Given the description of an element on the screen output the (x, y) to click on. 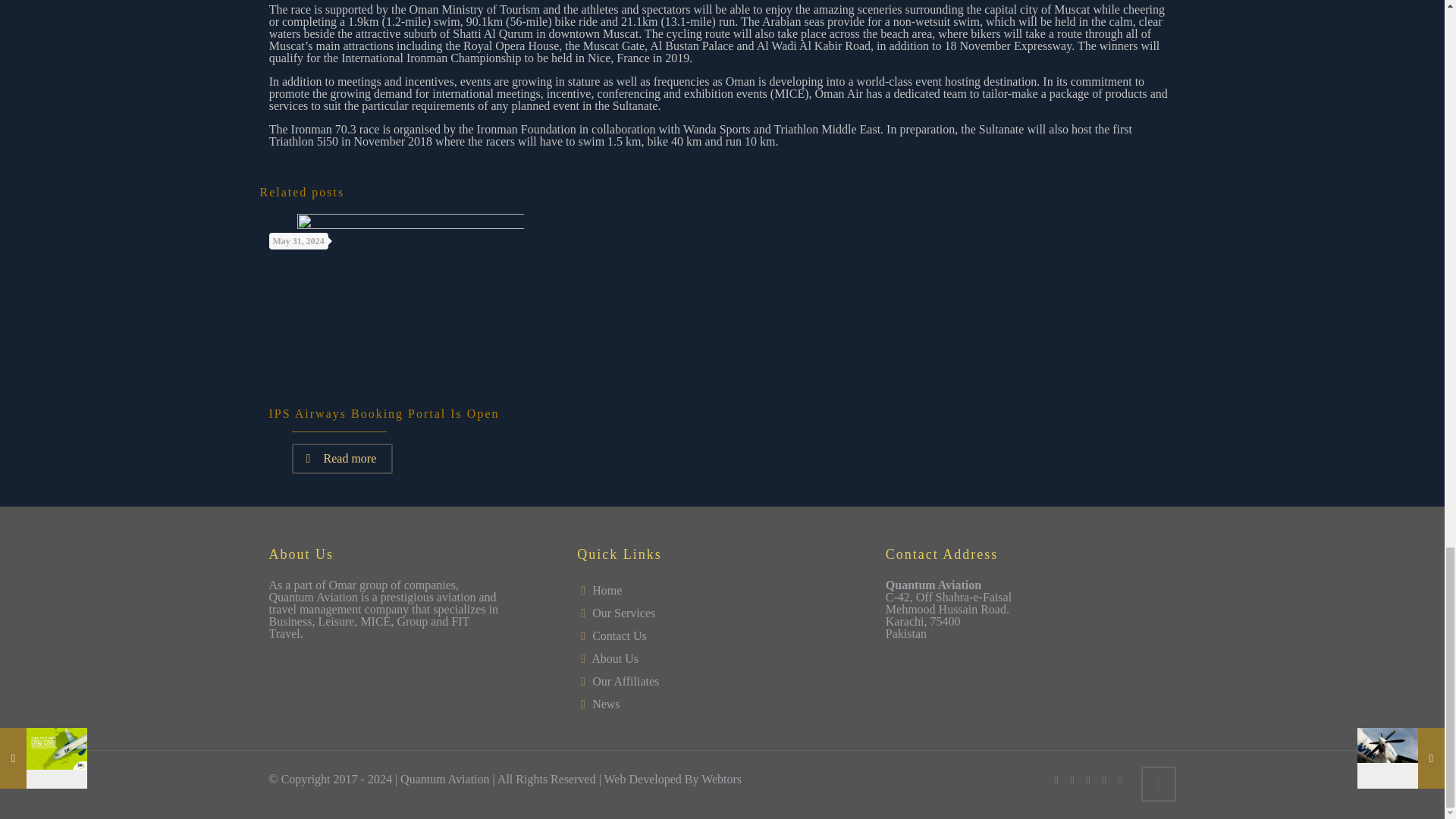
IPS Airways Booking Portal Is Open (383, 413)
Instagram (1120, 779)
Our Services (623, 612)
Pinterest (1103, 779)
Professional Website Development Company (721, 779)
Home (606, 590)
Read more (342, 458)
YouTube (1088, 779)
Facebook (1056, 779)
Contact Us (619, 635)
